Given the description of an element on the screen output the (x, y) to click on. 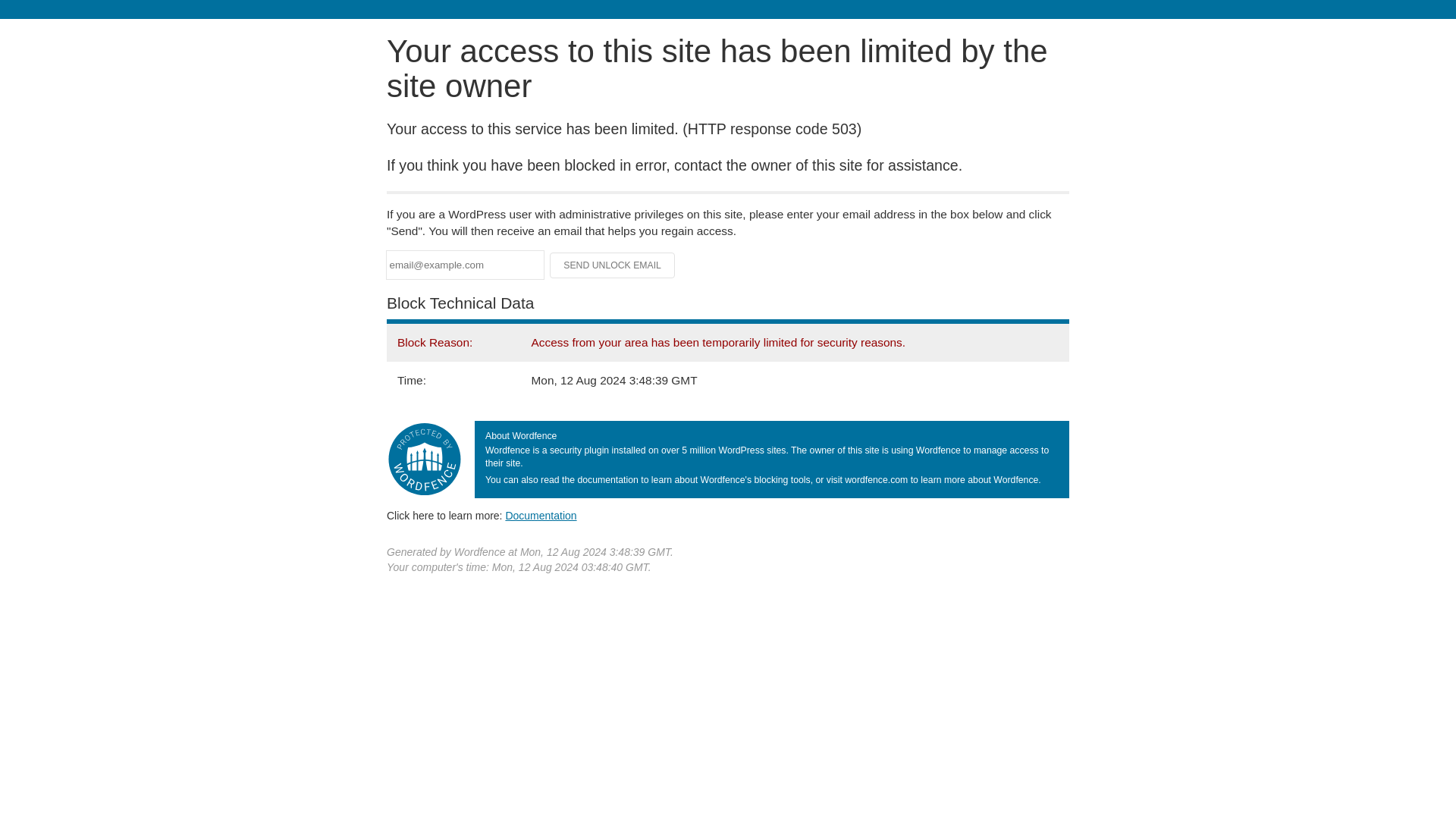
Documentation (540, 515)
Send Unlock Email (612, 265)
Send Unlock Email (612, 265)
